Given the description of an element on the screen output the (x, y) to click on. 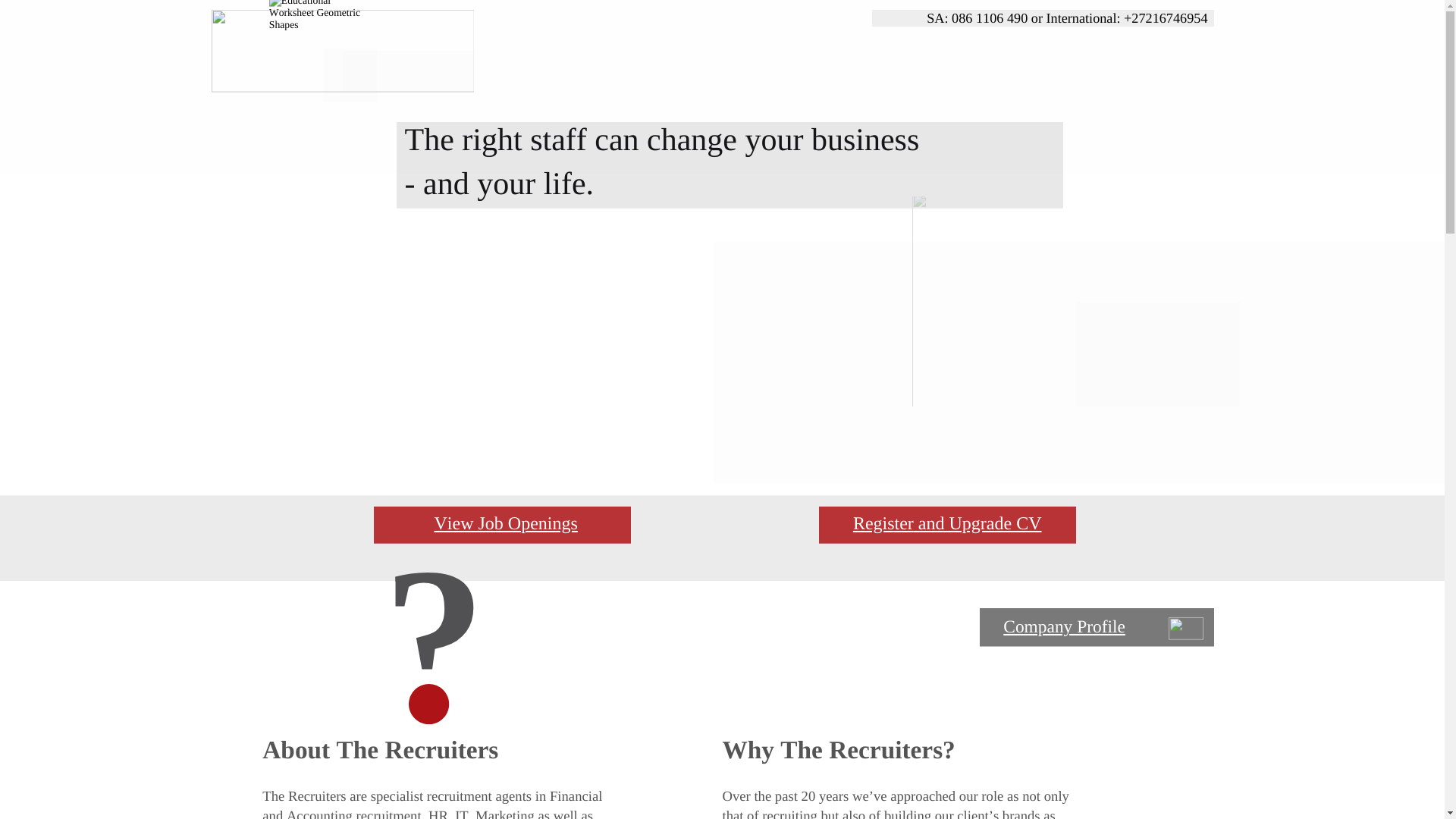
Request Candidate CVs (945, 188)
View Job Openings (504, 523)
Register (883, 523)
